Given the description of an element on the screen output the (x, y) to click on. 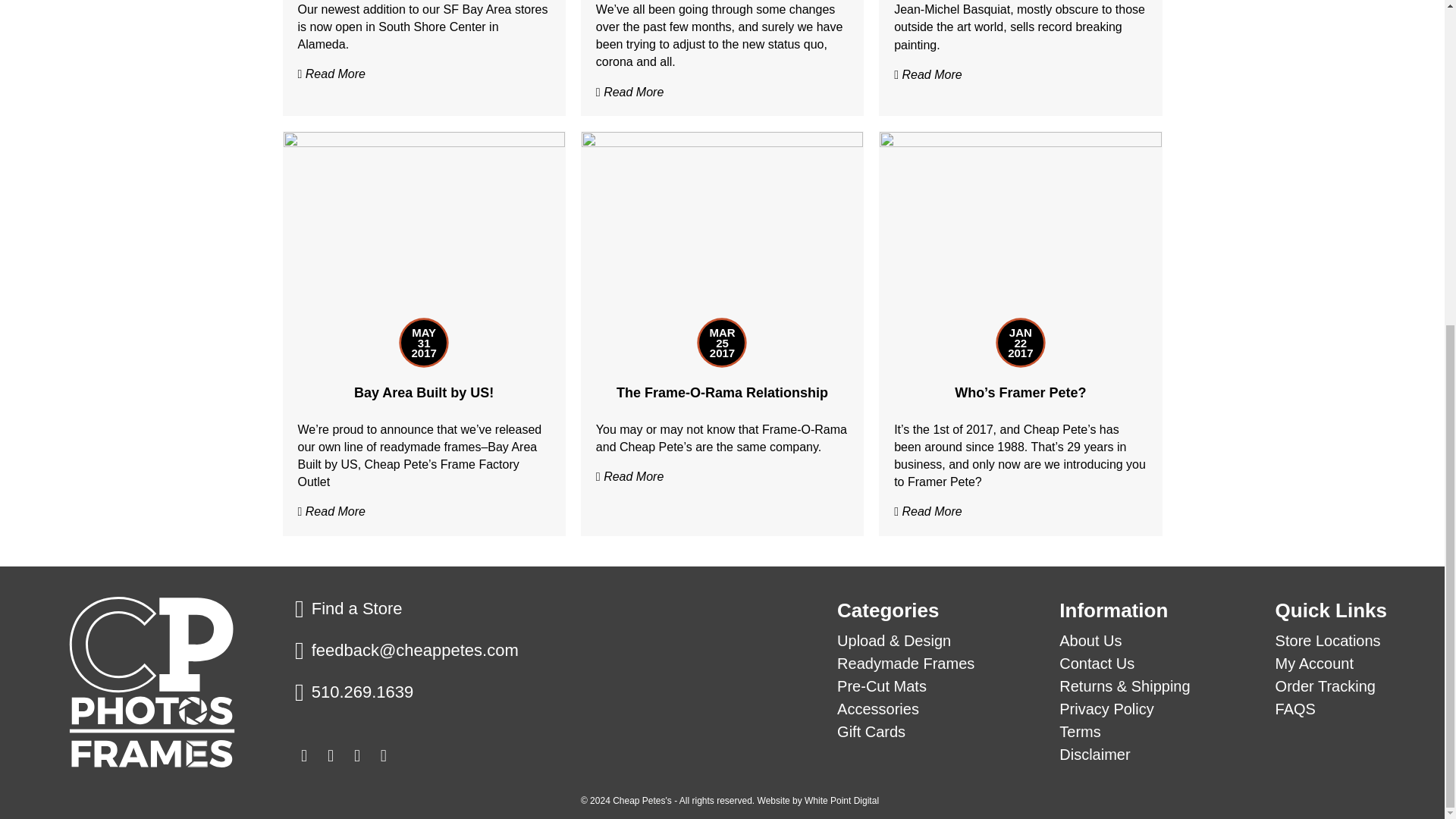
The Frame-O-Rama Relationship (721, 392)
Bay Area Built by US! (423, 392)
The Frame-O-Rama Relationship (721, 236)
Bay Area Built by US! (423, 236)
